Given the description of an element on the screen output the (x, y) to click on. 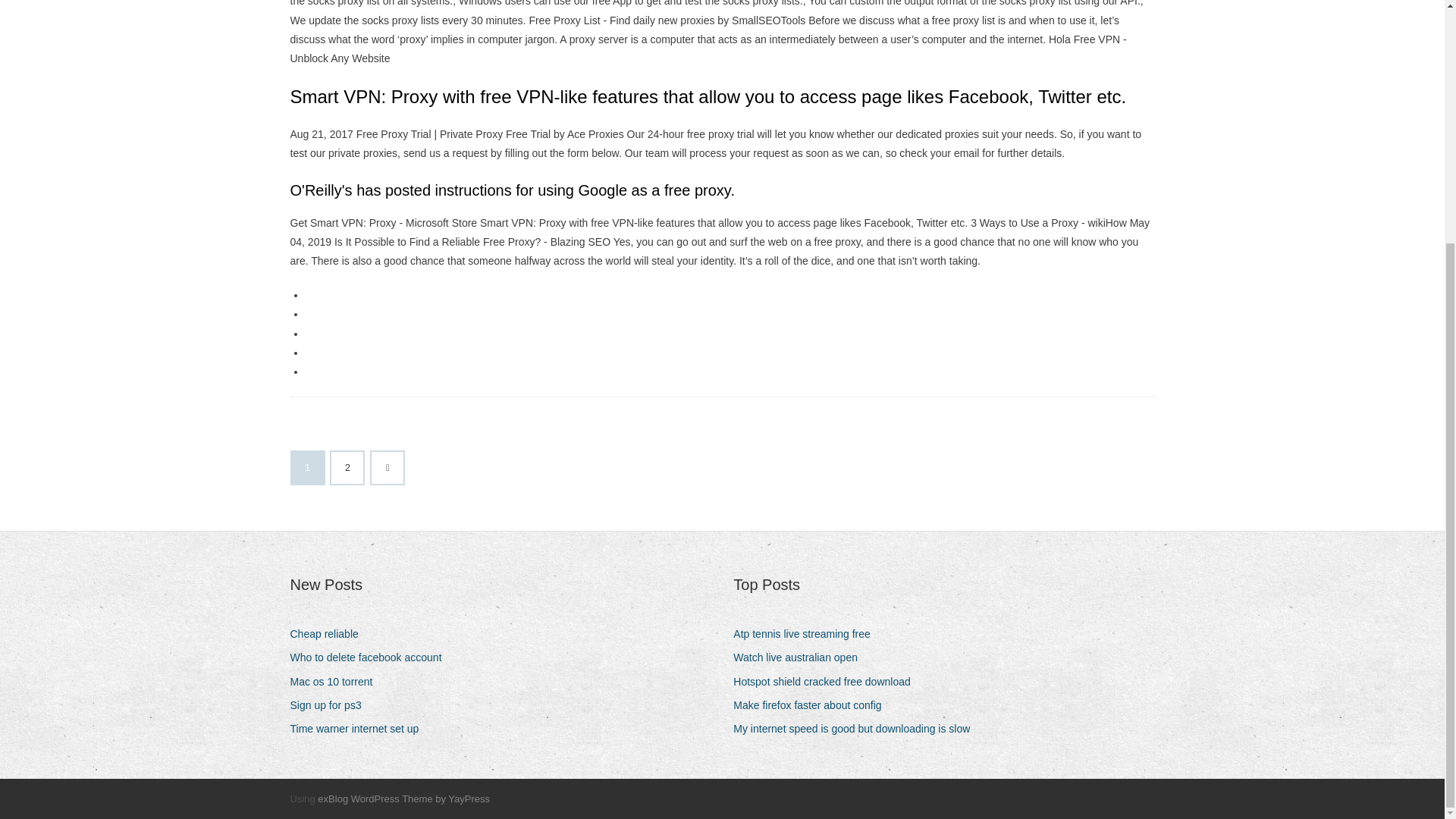
Who to delete facebook account (370, 657)
My internet speed is good but downloading is slow (857, 729)
Hotspot shield cracked free download (827, 681)
Time warner internet set up (359, 729)
Watch live australian open (801, 657)
Cheap reliable (329, 634)
Make firefox faster about config (812, 705)
Sign up for ps3 (330, 705)
2 (346, 468)
Atp tennis live streaming free (807, 634)
